Given the description of an element on the screen output the (x, y) to click on. 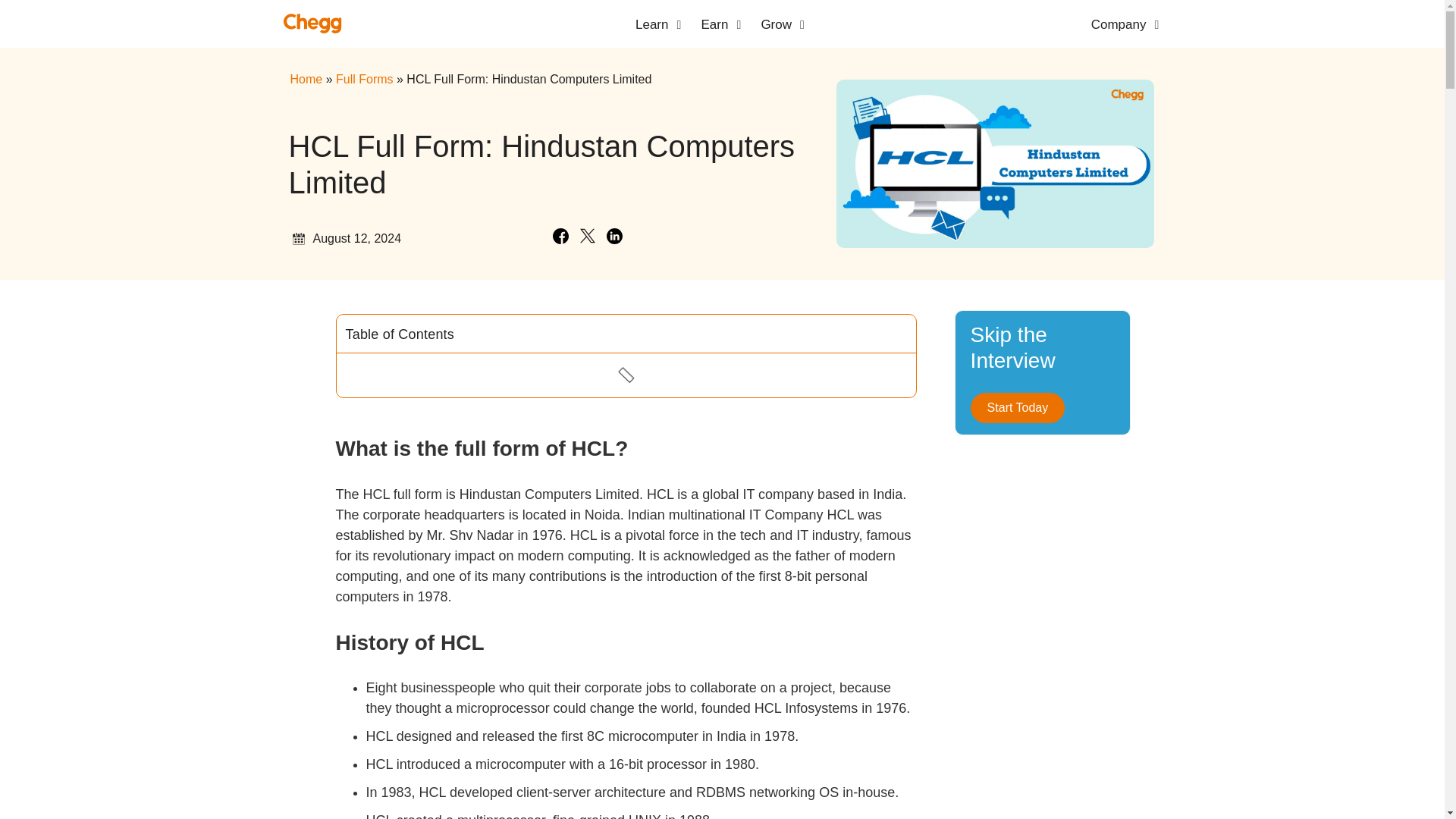
Home (305, 78)
Company (1118, 25)
Grow (776, 25)
Full Forms (364, 78)
Earn (714, 25)
Learn (651, 25)
